Given the description of an element on the screen output the (x, y) to click on. 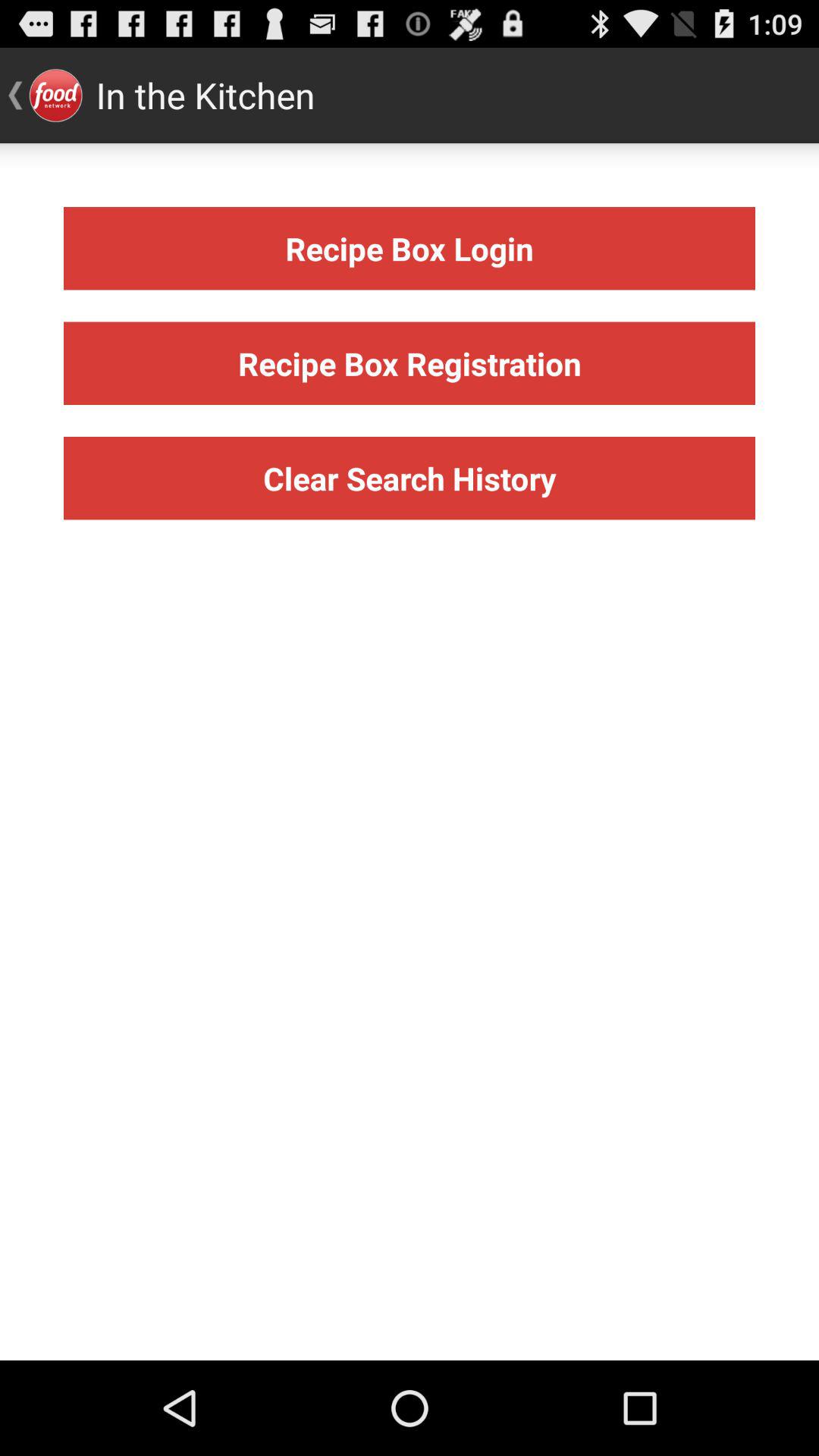
turn on clear search history button (409, 477)
